Given the description of an element on the screen output the (x, y) to click on. 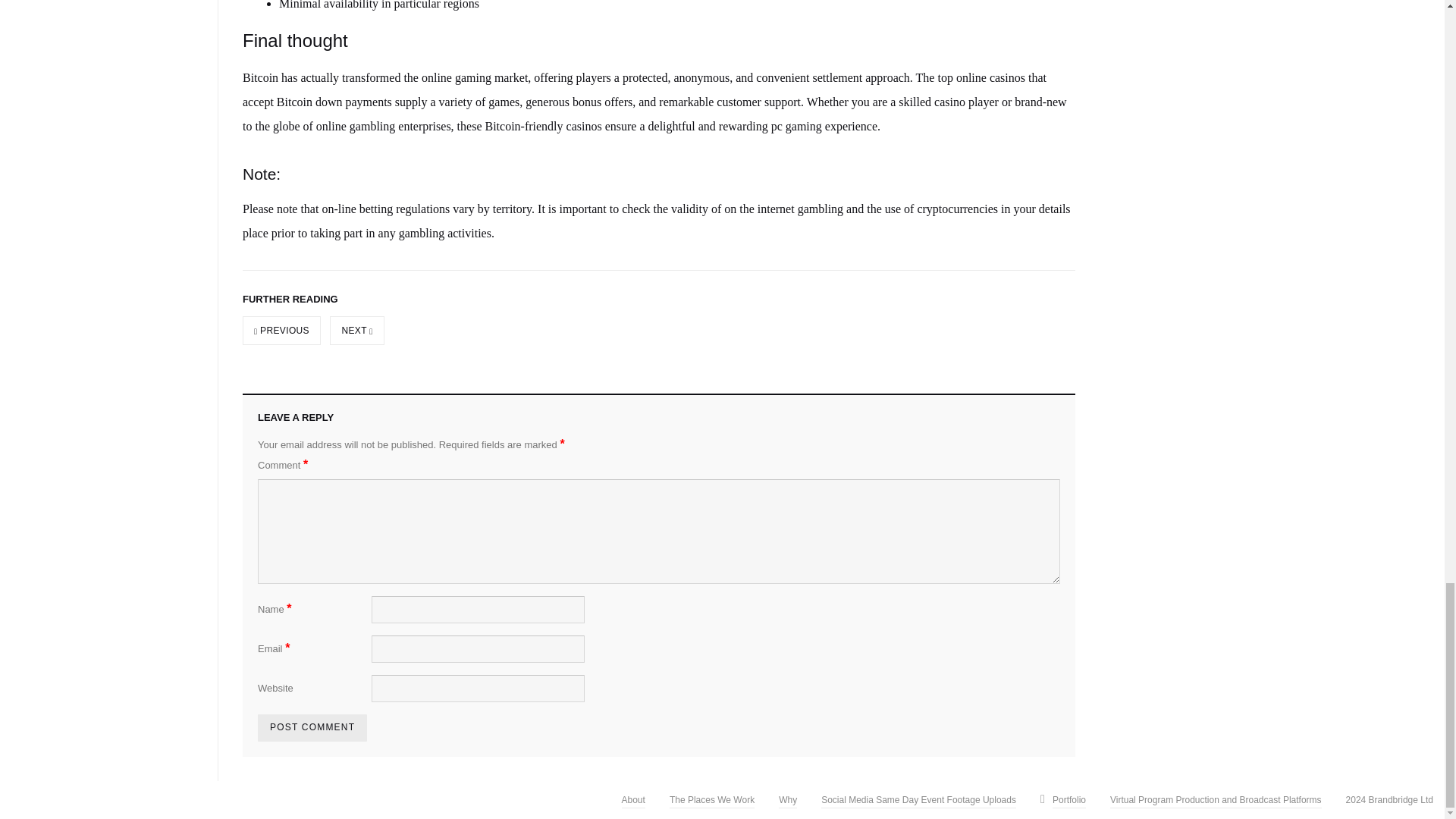
Post Comment (311, 728)
Social Media Same Day Event Footage Uploads (918, 797)
Post Comment (311, 728)
PREVIOUS (281, 330)
Portfolio (1069, 797)
Virtual Program Production and Broadcast Platforms (1215, 797)
NEXT (357, 330)
About (633, 797)
The Places We Work (711, 797)
